Given the description of an element on the screen output the (x, y) to click on. 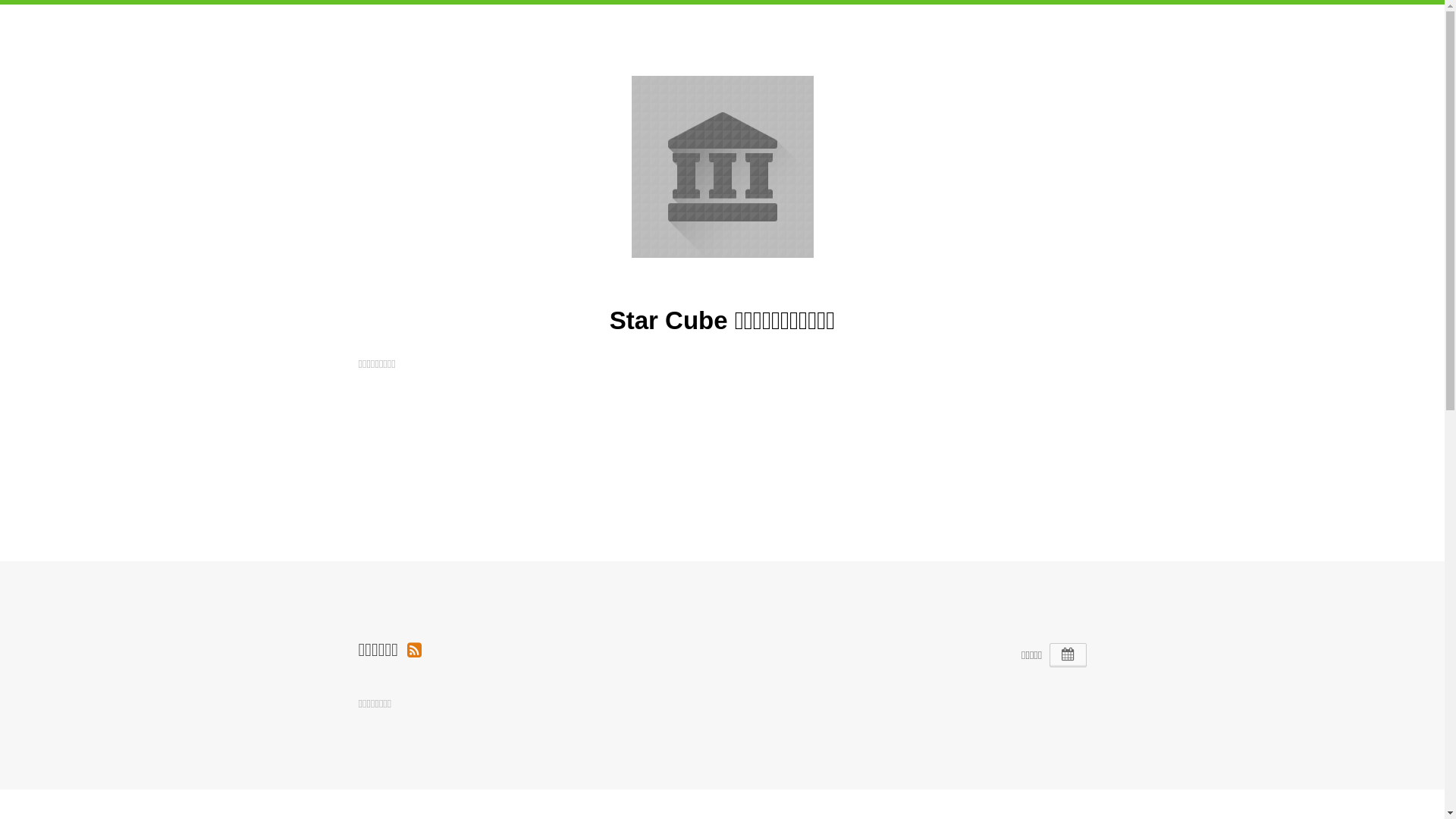
Organization Events RSS Element type: hover (414, 649)
